Given the description of an element on the screen output the (x, y) to click on. 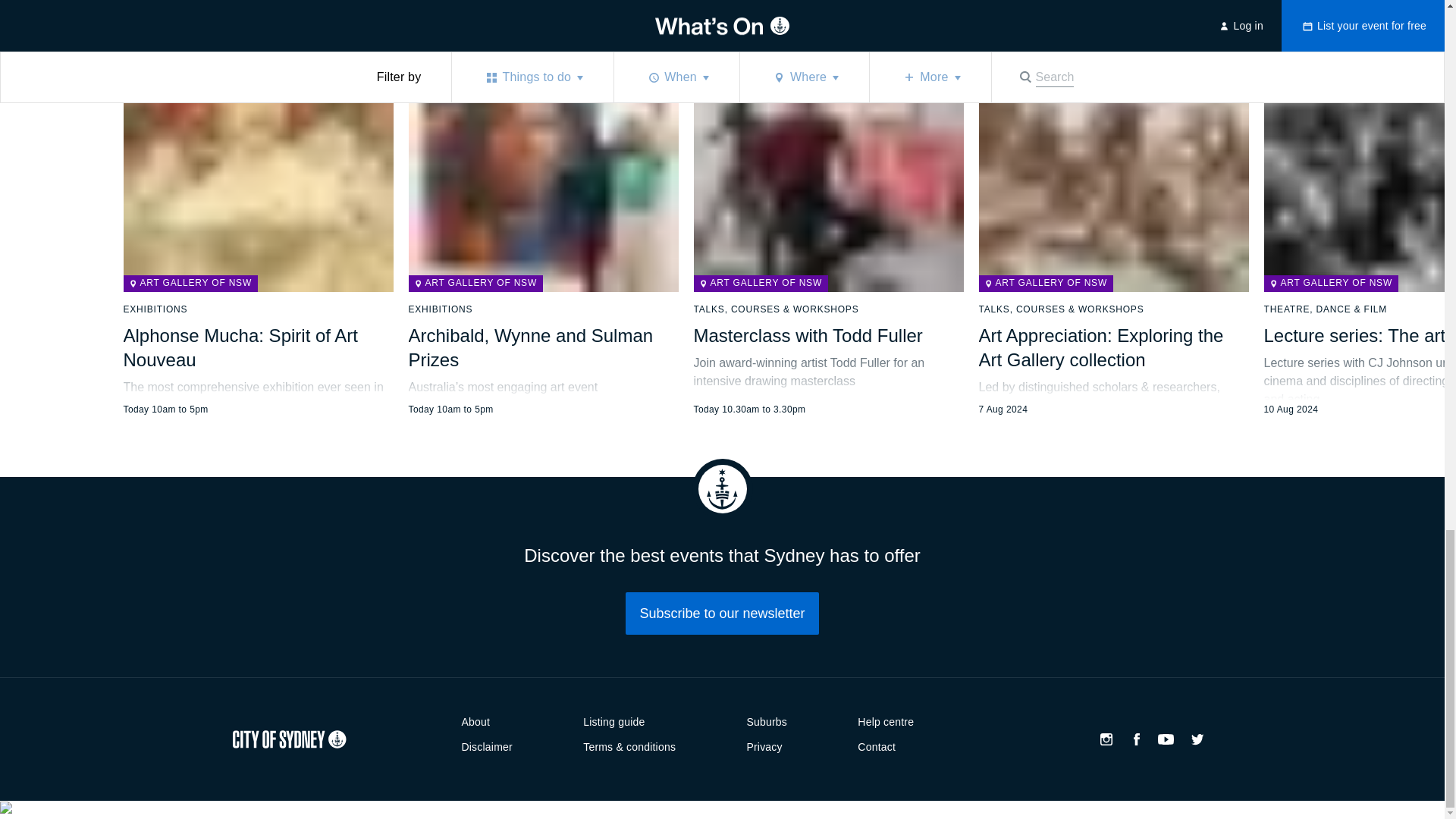
EXHIBITIONS (439, 309)
EXHIBITIONS (154, 309)
ART GALLERY OF NSW (475, 283)
Alphonse Mucha: Spirit of Art Nouveau (240, 347)
Archibald, Wynne and Sulman Prizes (529, 347)
ART GALLERY OF NSW (189, 283)
